Given the description of an element on the screen output the (x, y) to click on. 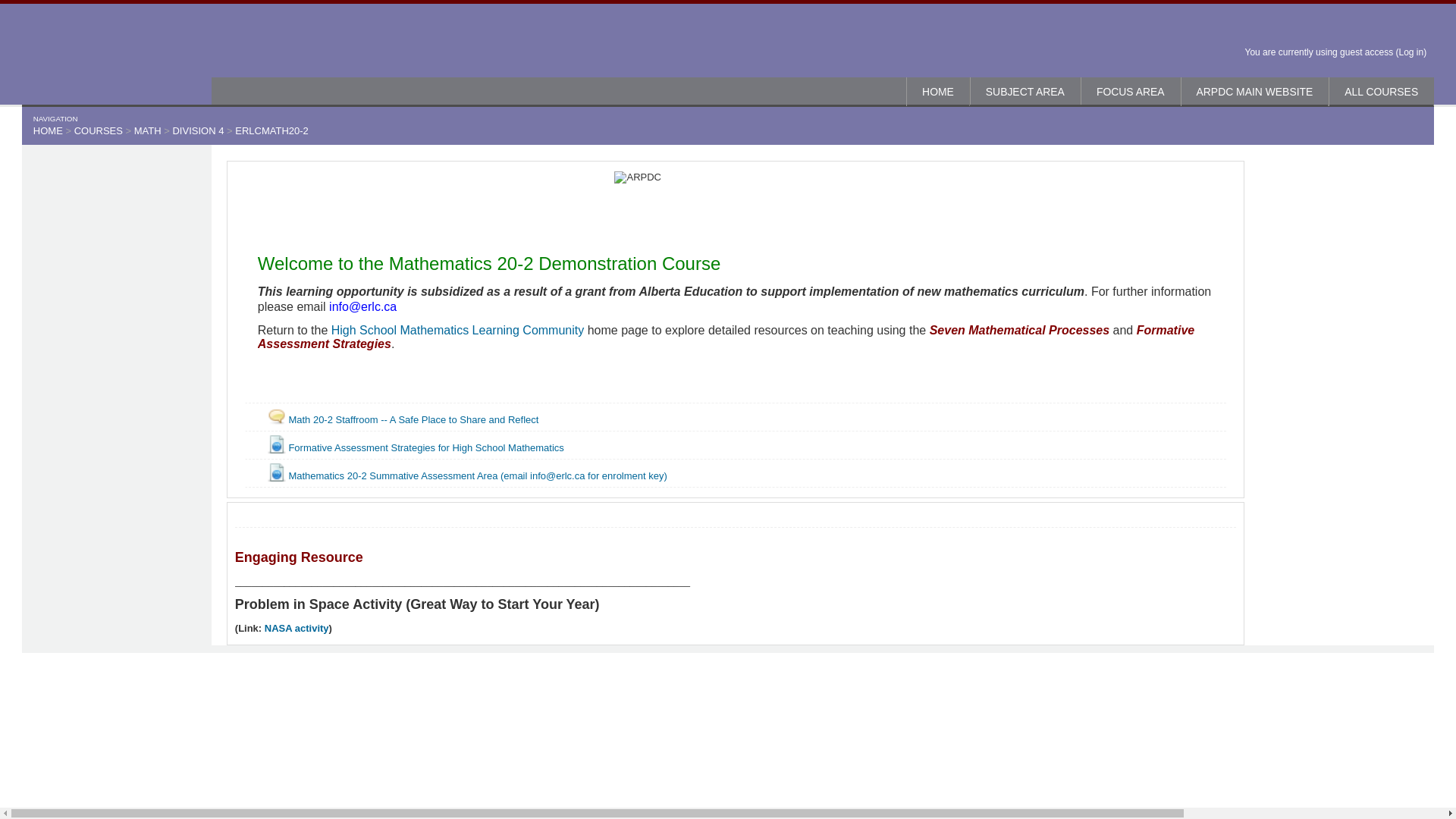
SUBJECT AREA (1025, 90)
Log in (1410, 51)
HOME (938, 91)
Home (938, 91)
Subject Area (1025, 90)
Home (116, 53)
